Given the description of an element on the screen output the (x, y) to click on. 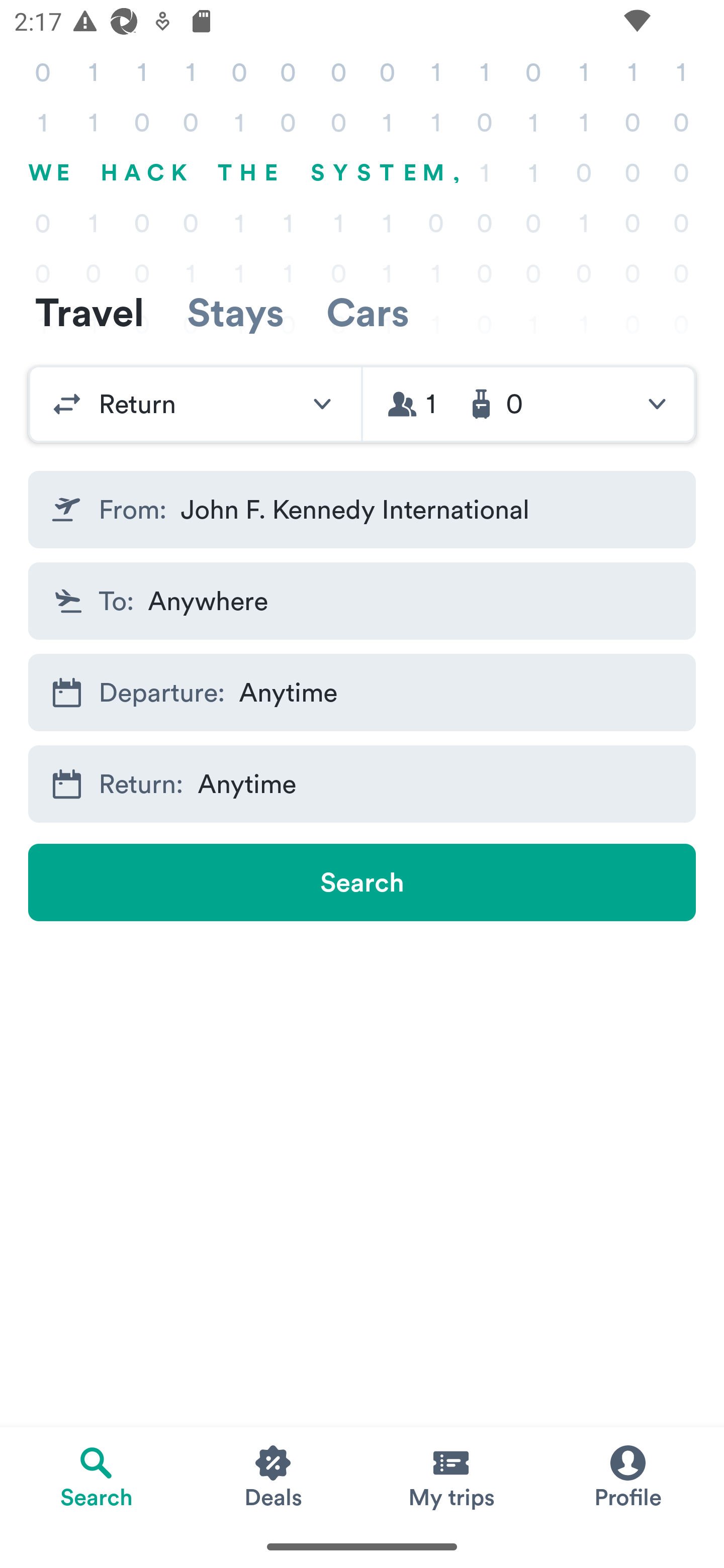
Travel (89, 311)
Stays (235, 311)
Cars (367, 311)
Return (194, 404)
Passengers 1 Bags 0 (528, 404)
From: John F. Kennedy International (361, 509)
To: Anywhere (361, 600)
Departure: Anytime (361, 692)
Return: Anytime (361, 783)
Search (361, 882)
Deals (273, 1475)
My trips (450, 1475)
Profile (627, 1475)
